Given the description of an element on the screen output the (x, y) to click on. 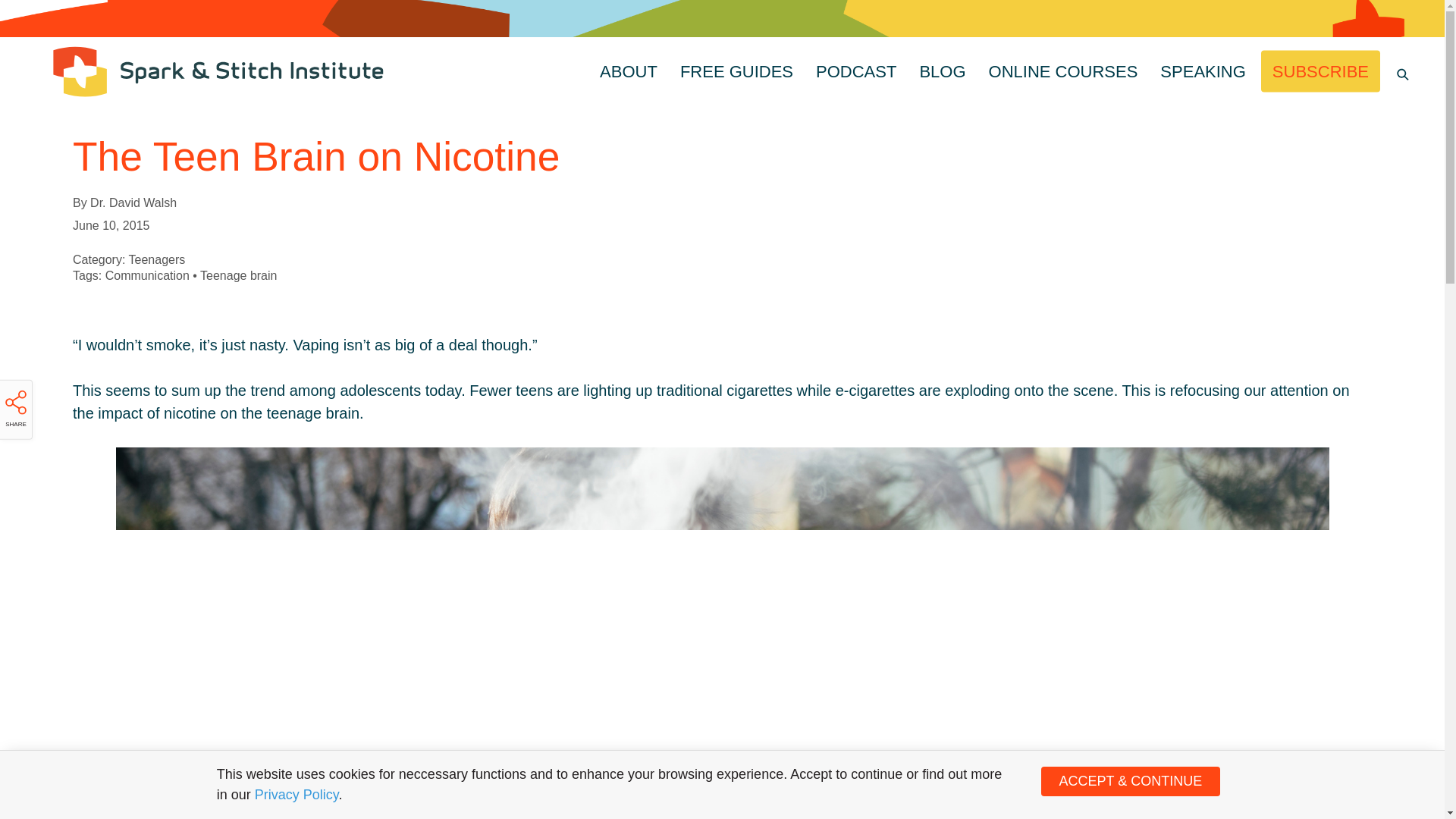
SPEAKING (1202, 70)
ABOUT (628, 70)
Teenage brain (238, 275)
Teenagers (157, 259)
ONLINE COURSES (1063, 70)
BLOG (941, 70)
FREE GUIDES (736, 70)
Search (22, 17)
Communication (146, 275)
SUBSCRIBE (1320, 70)
